Given the description of an element on the screen output the (x, y) to click on. 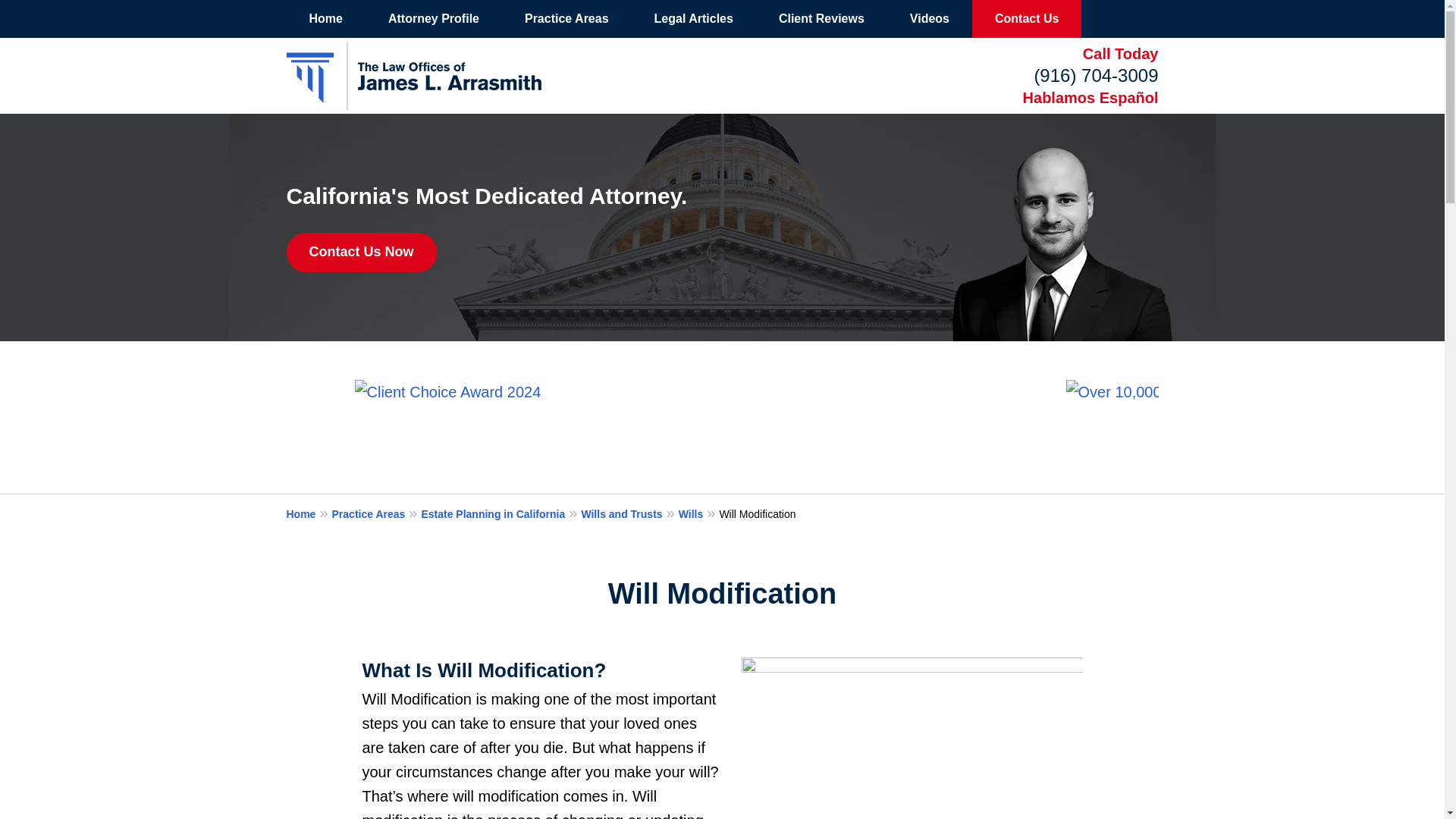
Home (325, 18)
Contact Us Now (361, 251)
Practice Areas (566, 18)
Videos (929, 18)
Wills (698, 513)
Practice Areas (376, 513)
Home (308, 513)
Legal Articles (693, 18)
Estate Planning in California (500, 513)
Contact Us (1026, 18)
Call Today (1120, 53)
Attorney Profile (433, 18)
Wills and Trusts (629, 513)
Client Reviews (820, 18)
